Given the description of an element on the screen output the (x, y) to click on. 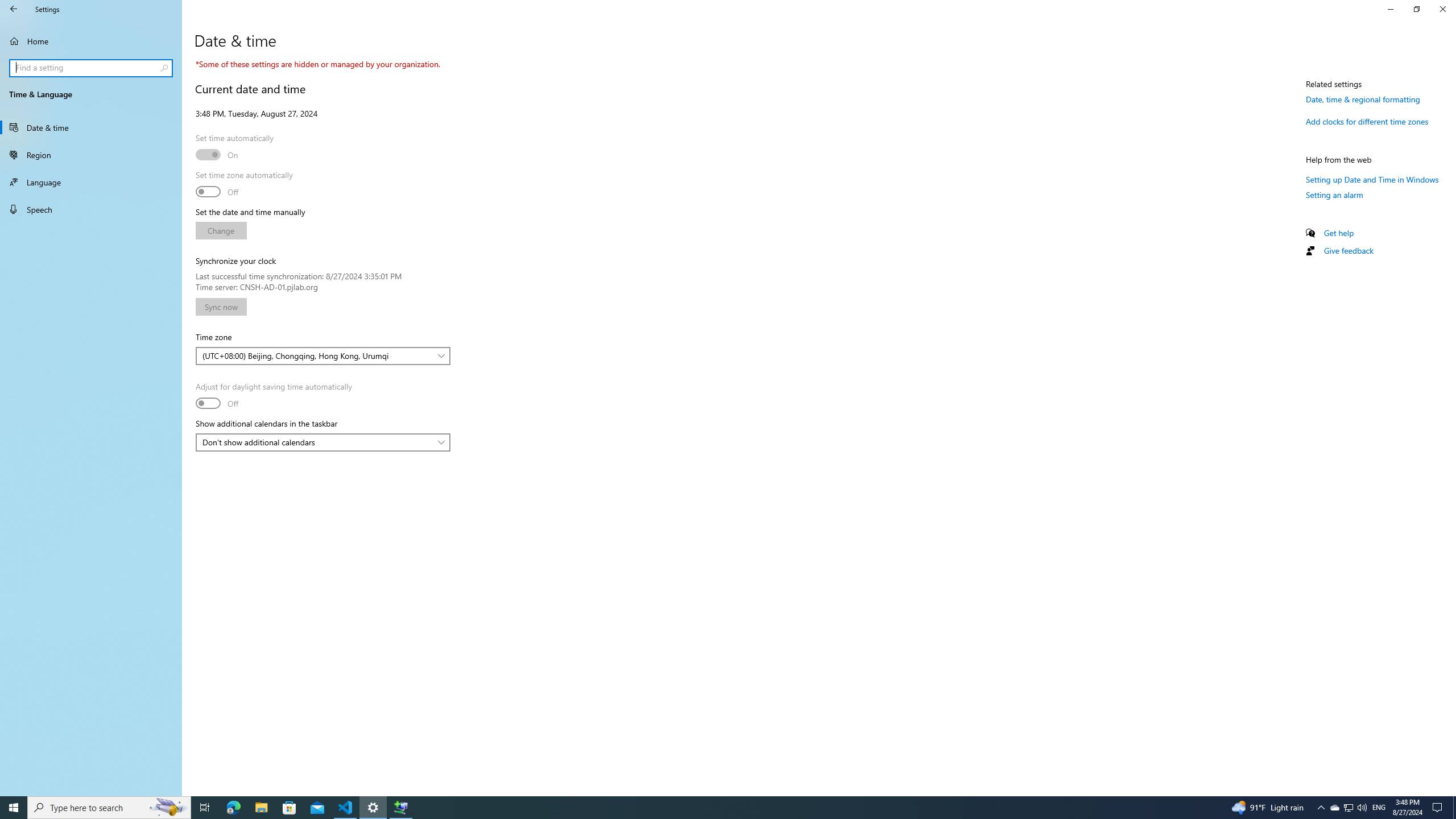
Set time zone automatically (216, 191)
(UTC+08:00) Beijing, Chongqing, Hong Kong, Urumqi (317, 355)
Set the date and time manually (221, 230)
Date, time & regional formatting (1362, 99)
Show additional calendars in the taskbar (322, 442)
Setting up Date and Time in Windows (1372, 179)
Language (91, 181)
